Given the description of an element on the screen output the (x, y) to click on. 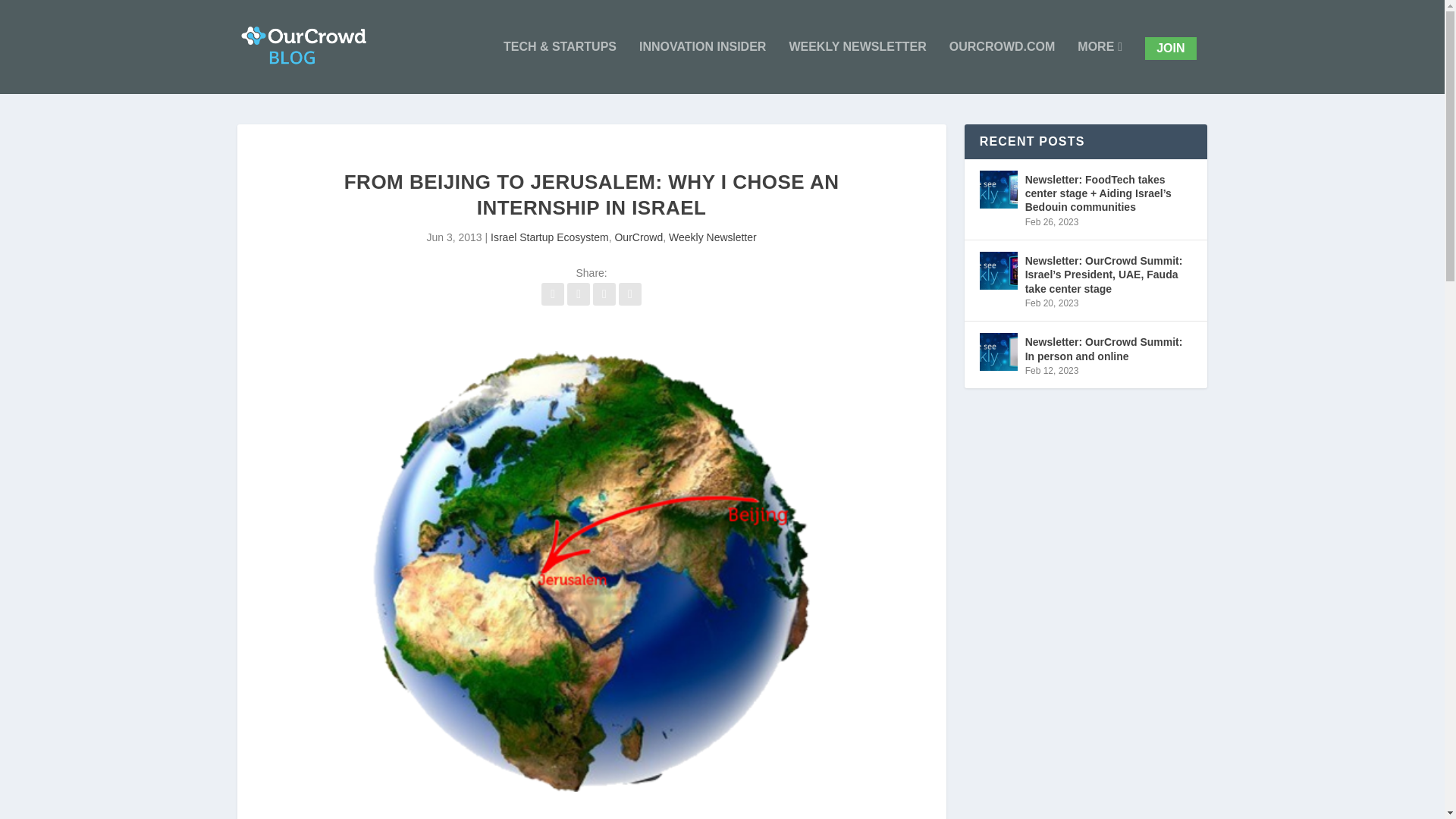
Weekly Newsletter (712, 236)
JOIN (1169, 47)
Newsletter: OurCrowd Summit: In person and online (998, 351)
OURCROWD.COM (1002, 67)
INNOVATION INSIDER (702, 67)
OurCrowd (638, 236)
WEEKLY NEWSLETTER (857, 67)
Israel Startup Ecosystem (549, 236)
